Given the description of an element on the screen output the (x, y) to click on. 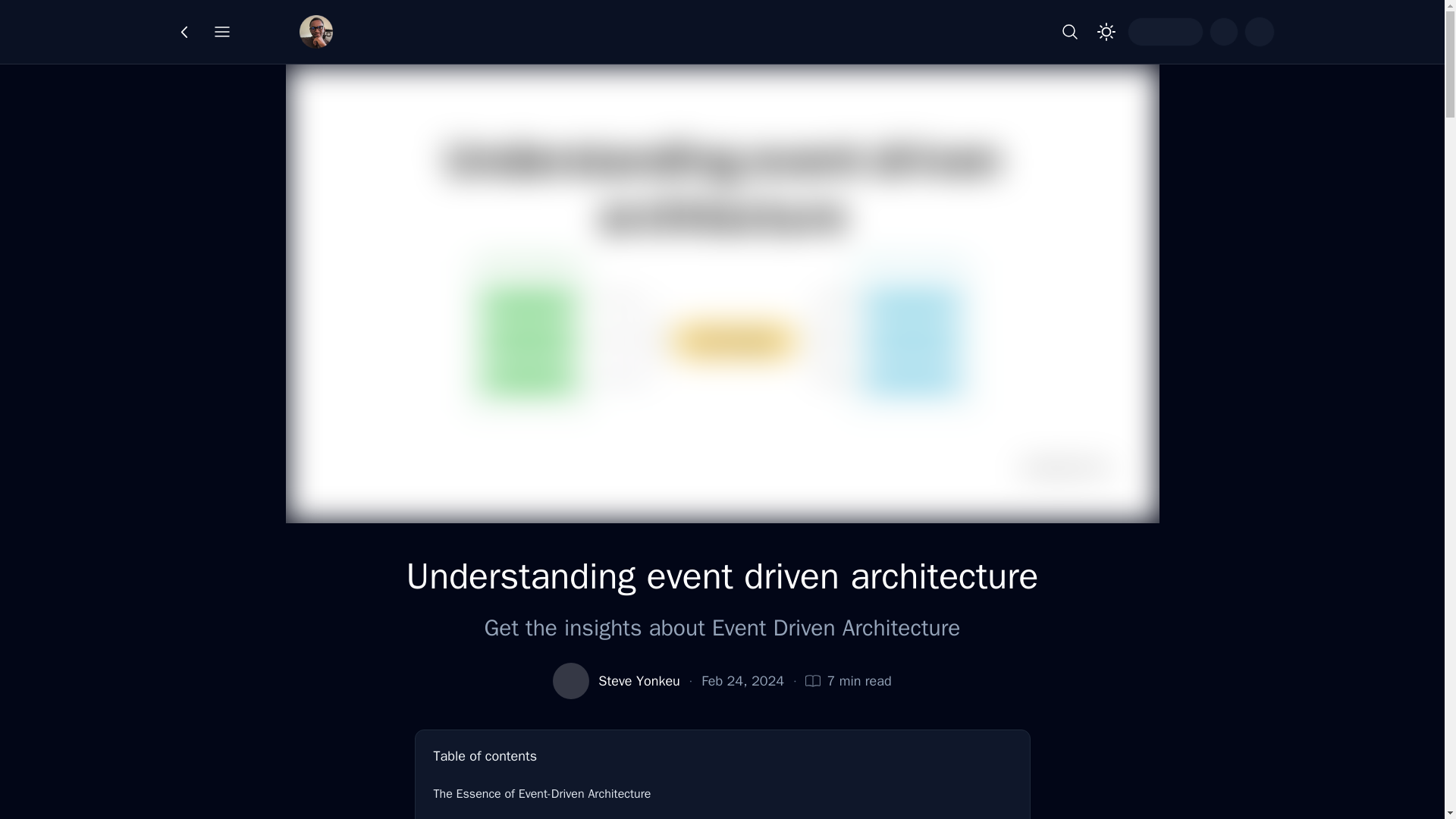
Feb 24, 2024 (742, 680)
The Essence of Event-Driven Architecture (722, 793)
Steve Yonkeu (638, 680)
